Given the description of an element on the screen output the (x, y) to click on. 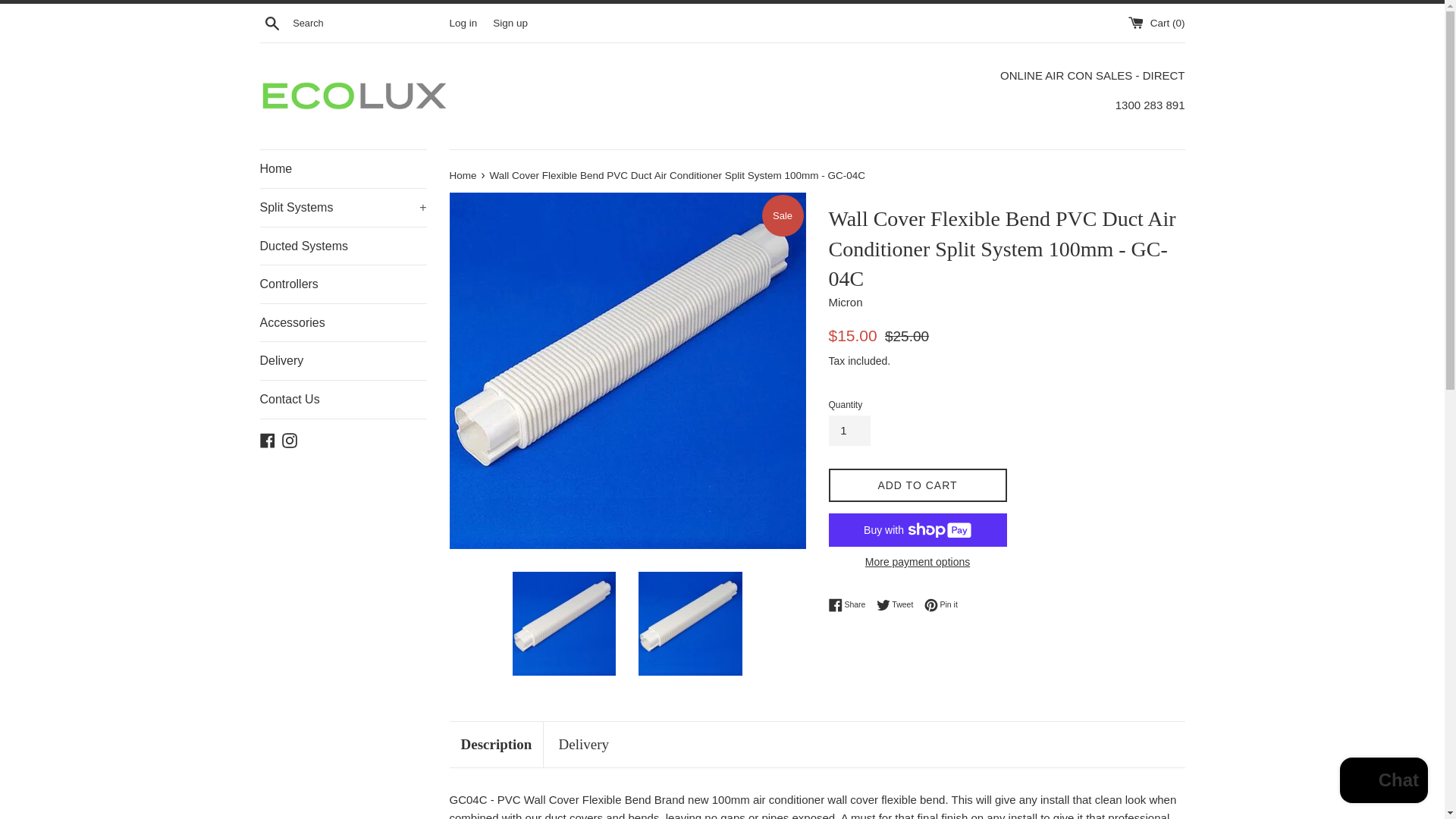
1 (848, 430)
EcoLux Appliances on Instagram (289, 439)
Tweet on Twitter (898, 603)
Home (463, 174)
Accessories (342, 322)
EcoLux Appliances on Facebook (850, 603)
More payment options (267, 439)
Search (917, 561)
Delivery (271, 21)
